Given the description of an element on the screen output the (x, y) to click on. 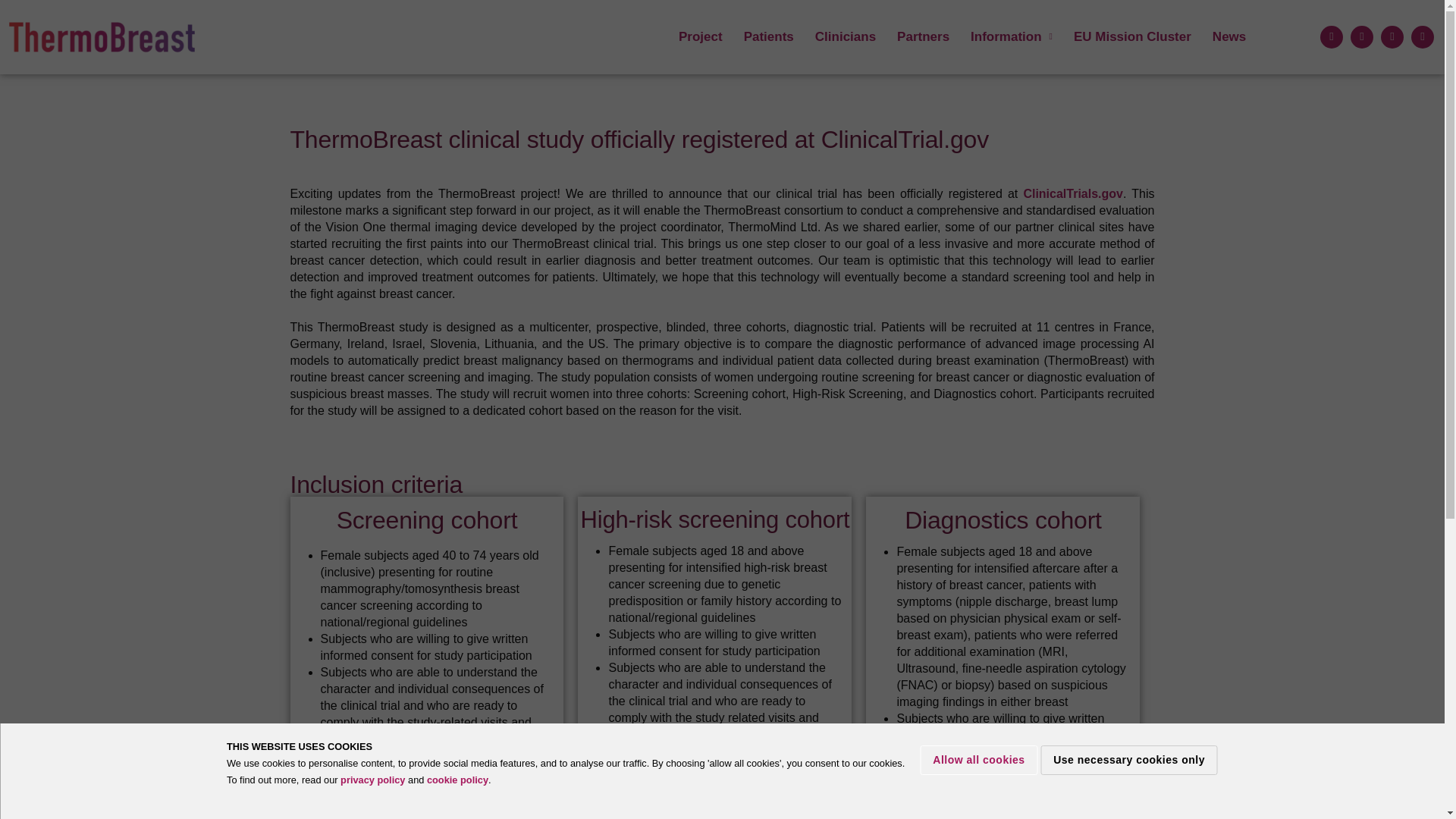
Information (1010, 36)
cookie policy (456, 779)
News (1229, 36)
Use necessary cookies only (1129, 758)
Patients (769, 36)
Project (700, 36)
Partners (922, 36)
privacy policy (372, 779)
EU Mission Cluster (1132, 36)
Allow all cookies (978, 758)
Clinicians (845, 36)
